Given the description of an element on the screen output the (x, y) to click on. 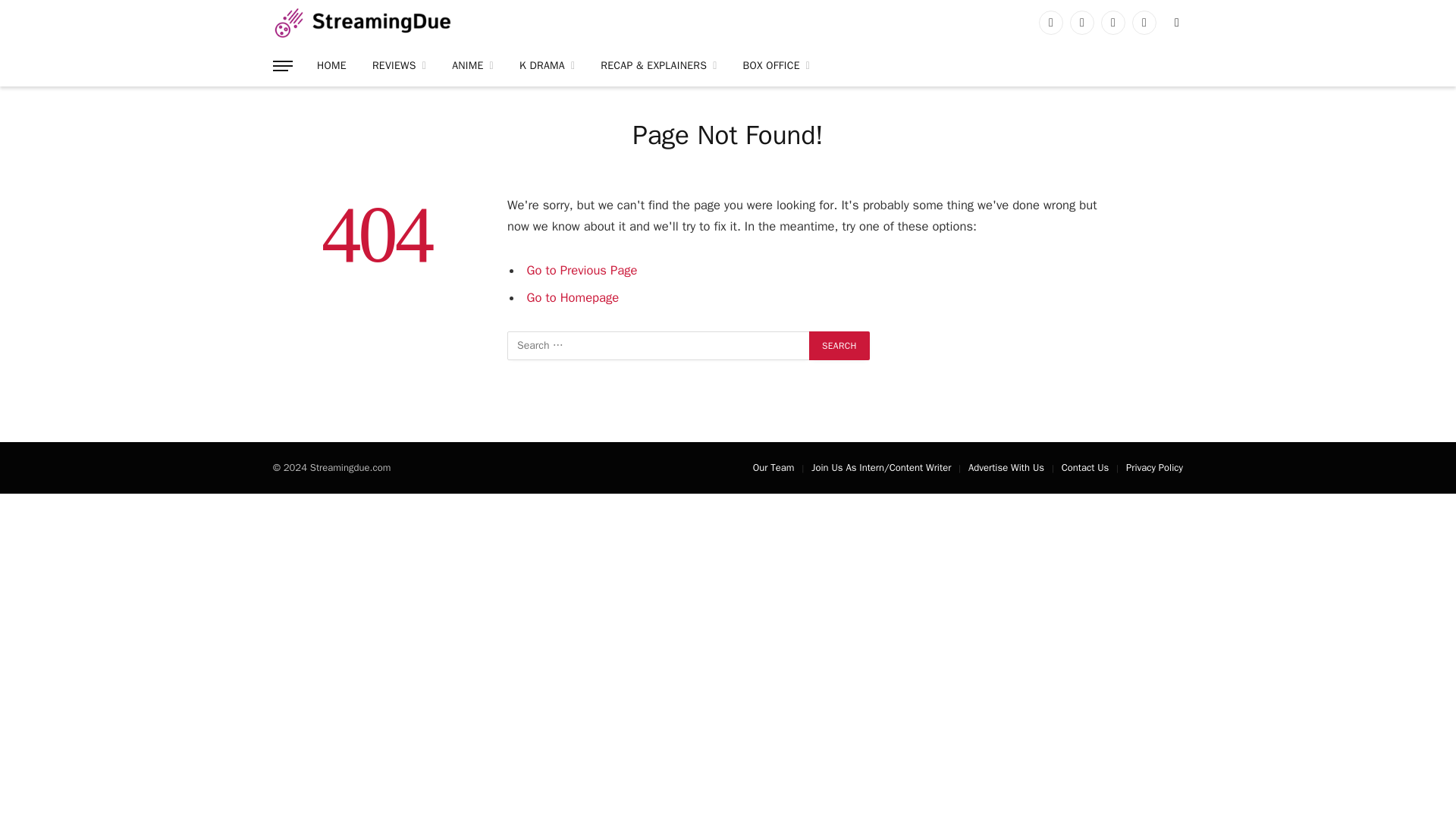
Instagram (1112, 22)
Switch to Dark Design - easier on eyes. (1174, 22)
ANIME (472, 65)
Facebook (1050, 22)
Search (839, 345)
StreamingDue.Com (362, 22)
REVIEWS (399, 65)
Search (839, 345)
HOME (331, 65)
YouTube (1144, 22)
